Given the description of an element on the screen output the (x, y) to click on. 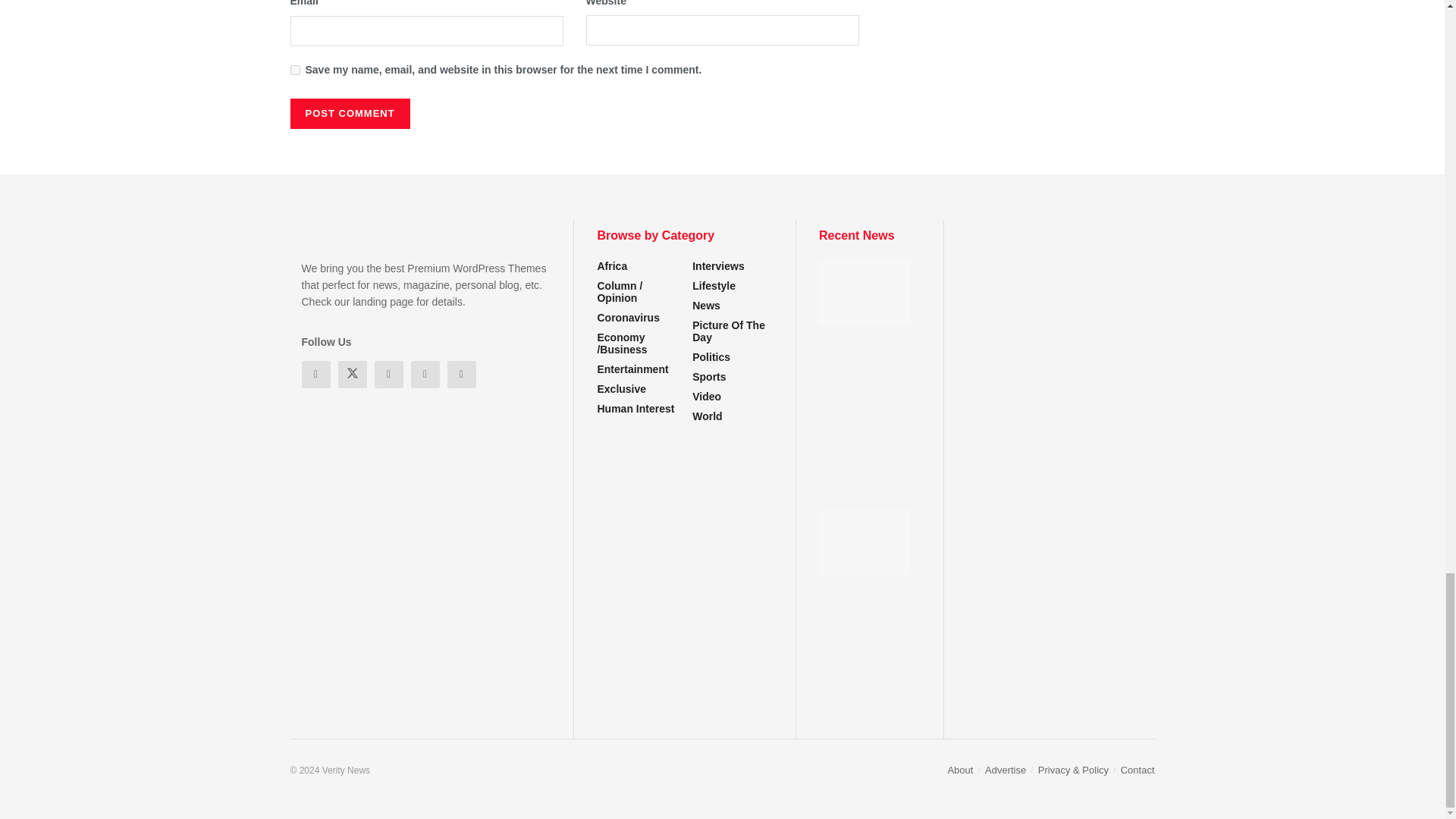
yes (294, 70)
Post Comment (349, 113)
